Given the description of an element on the screen output the (x, y) to click on. 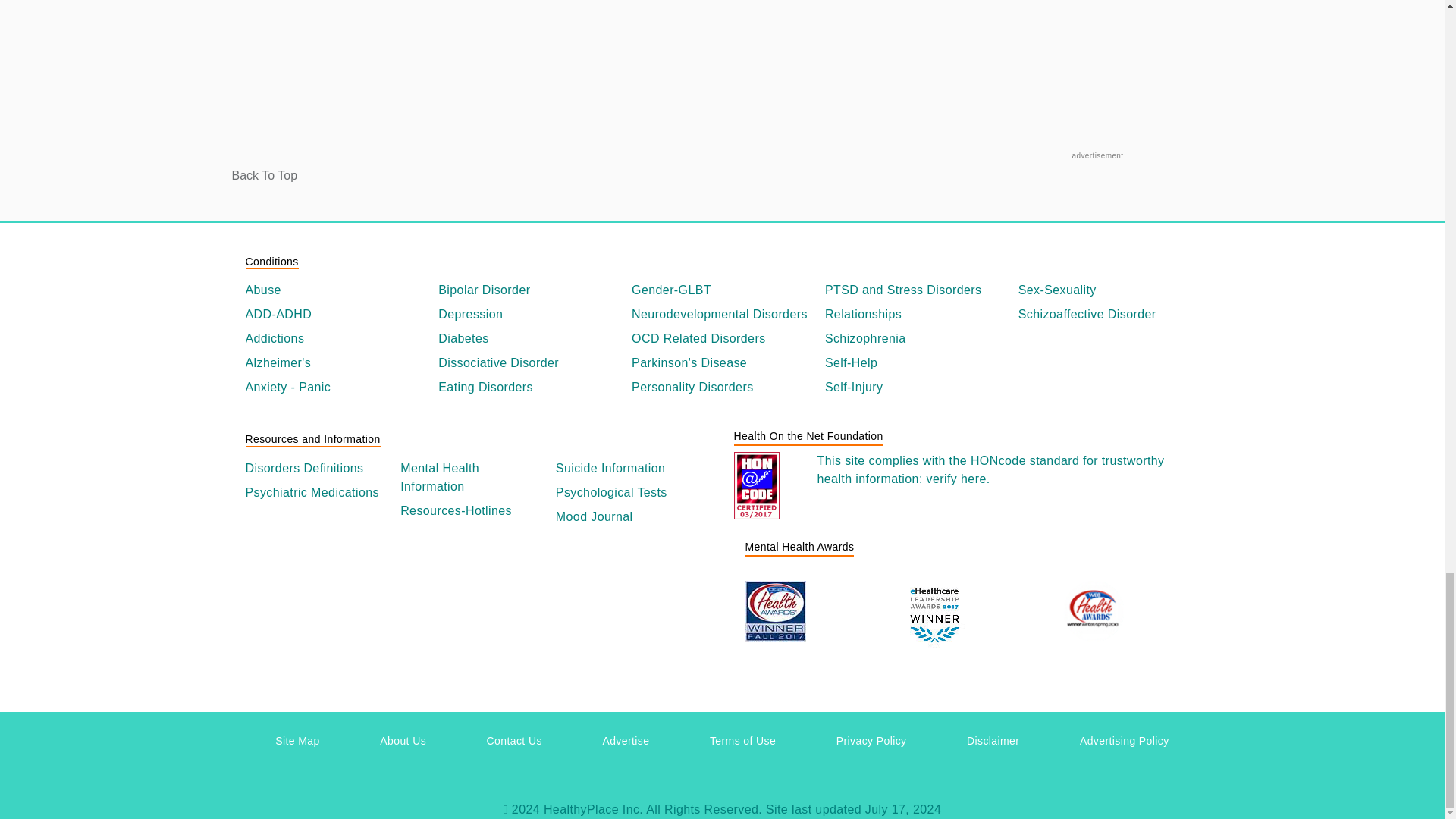
Parkinson's Disease Information Articles (721, 362)
